Given the description of an element on the screen output the (x, y) to click on. 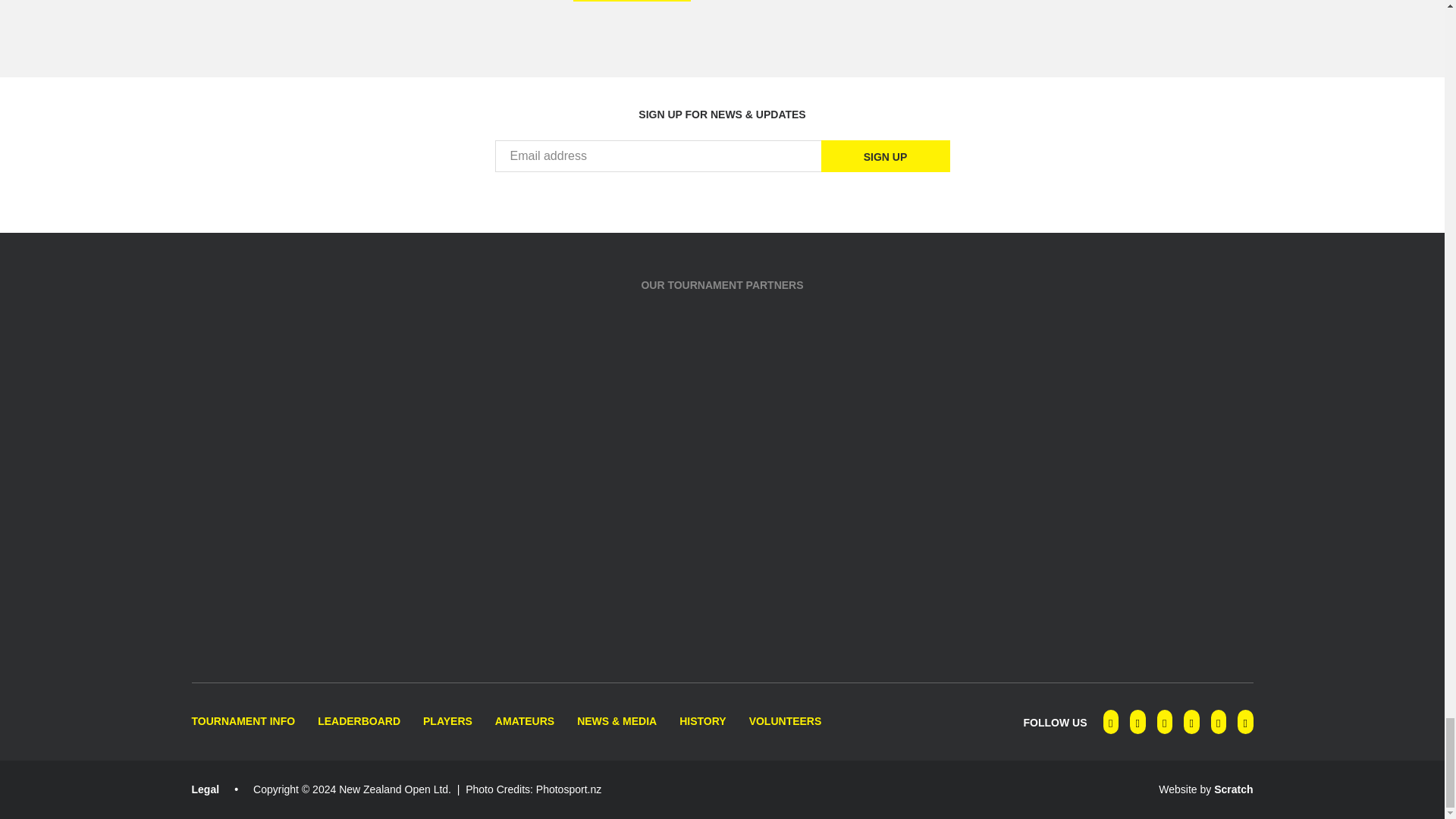
SIGN UP (885, 155)
